Given the description of an element on the screen output the (x, y) to click on. 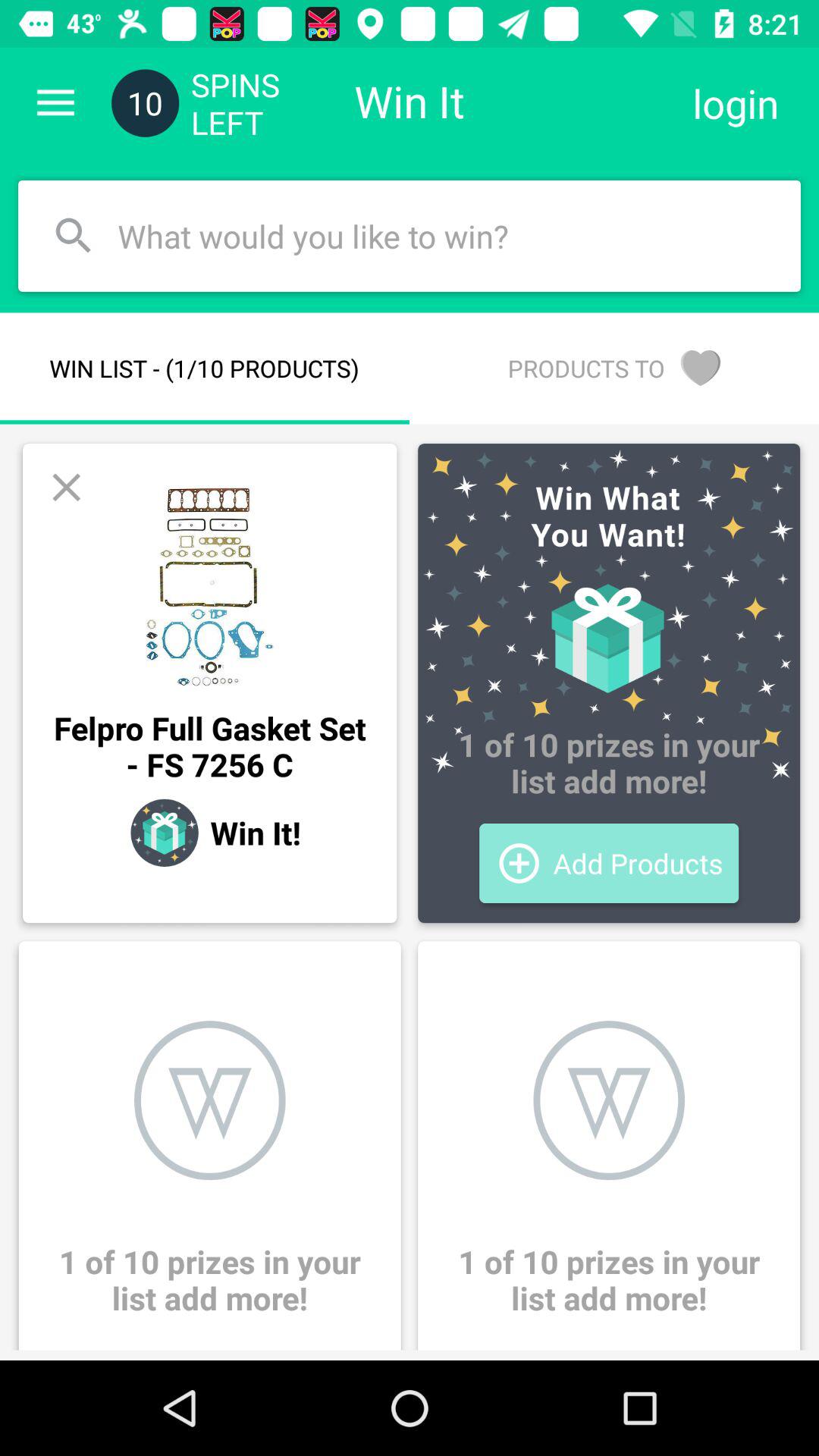
choose the icon to the right of win it item (735, 102)
